Given the description of an element on the screen output the (x, y) to click on. 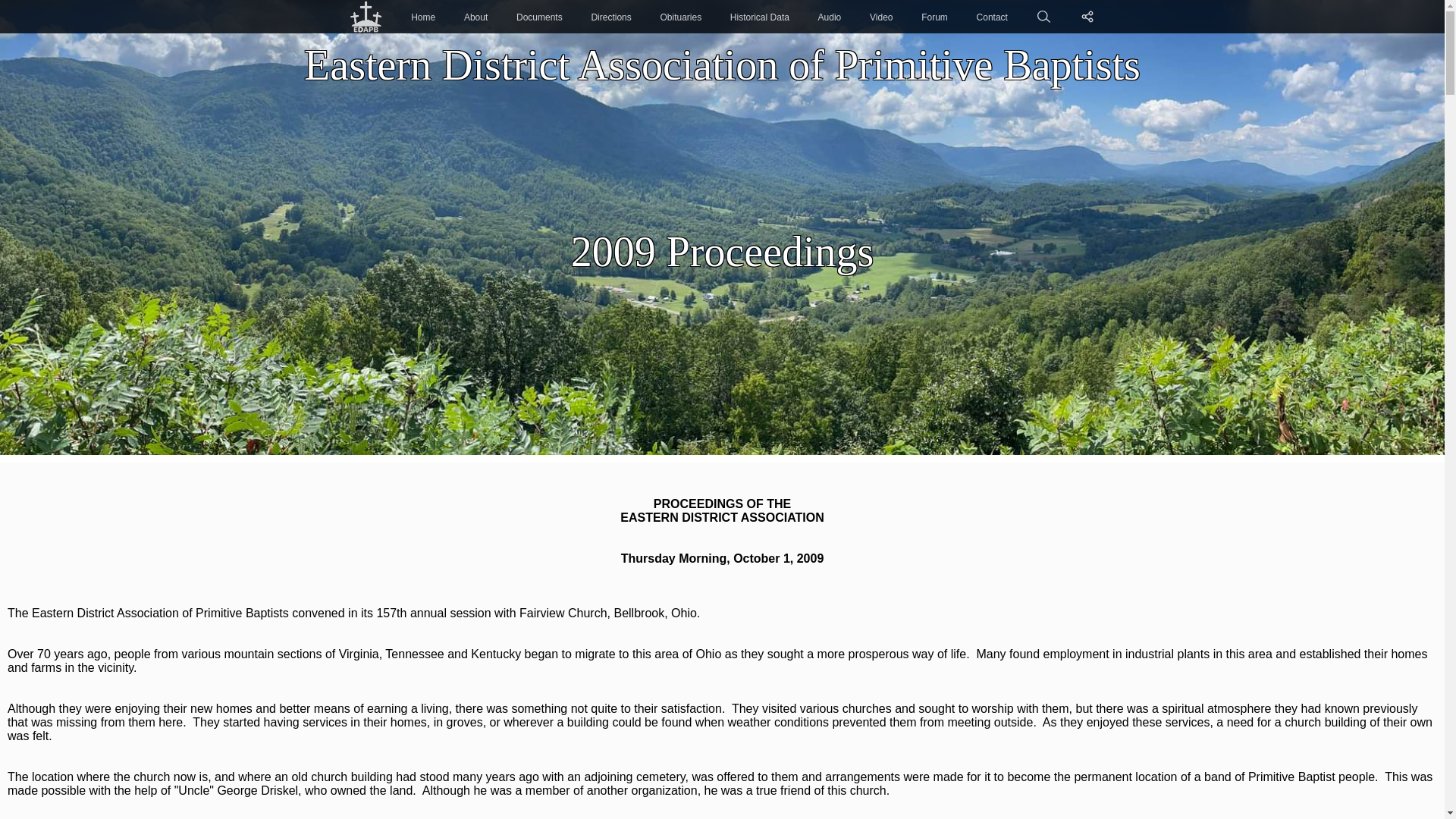
Forum (934, 17)
Audio (829, 17)
Directions (610, 17)
Obituaries (680, 17)
Home (422, 17)
Contact (991, 17)
Video (880, 17)
Historical Data (759, 17)
Documents (539, 17)
About (475, 17)
